Given the description of an element on the screen output the (x, y) to click on. 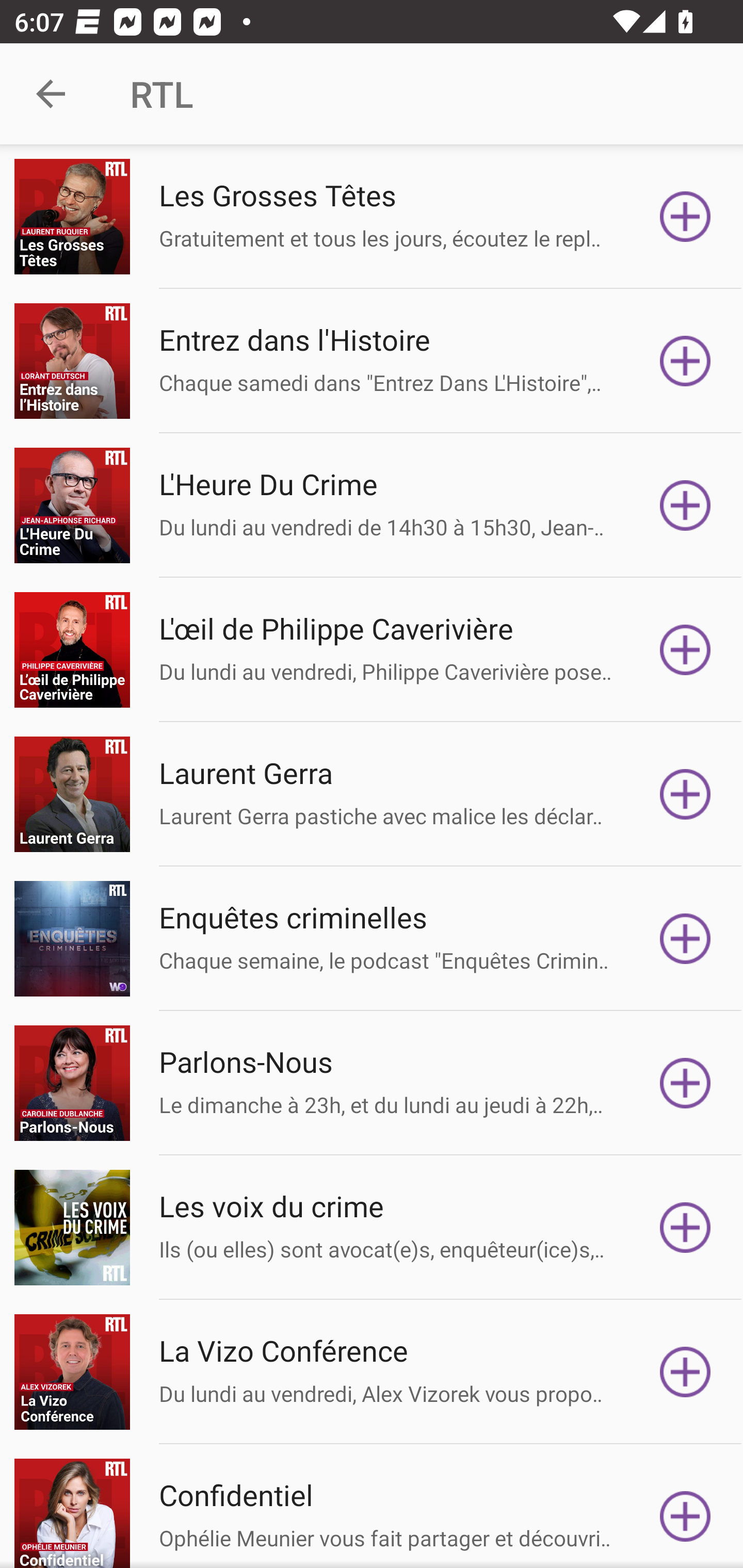
Navigate up (50, 93)
Subscribe (685, 216)
Subscribe (685, 360)
Subscribe (685, 505)
Subscribe (685, 649)
Subscribe (685, 793)
Subscribe (685, 939)
Subscribe (685, 1083)
Subscribe (685, 1227)
Subscribe (685, 1371)
Subscribe (685, 1513)
